Given the description of an element on the screen output the (x, y) to click on. 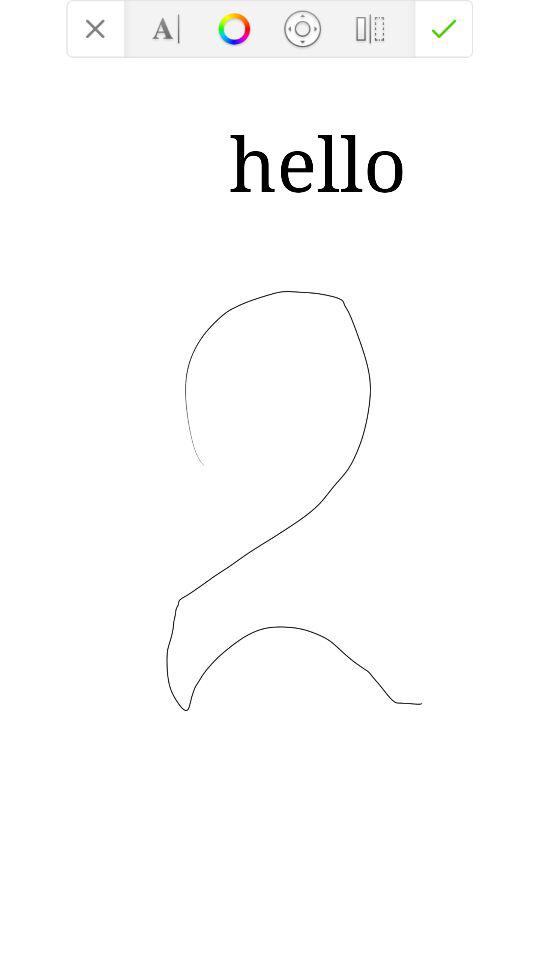
move image (302, 28)
